Given the description of an element on the screen output the (x, y) to click on. 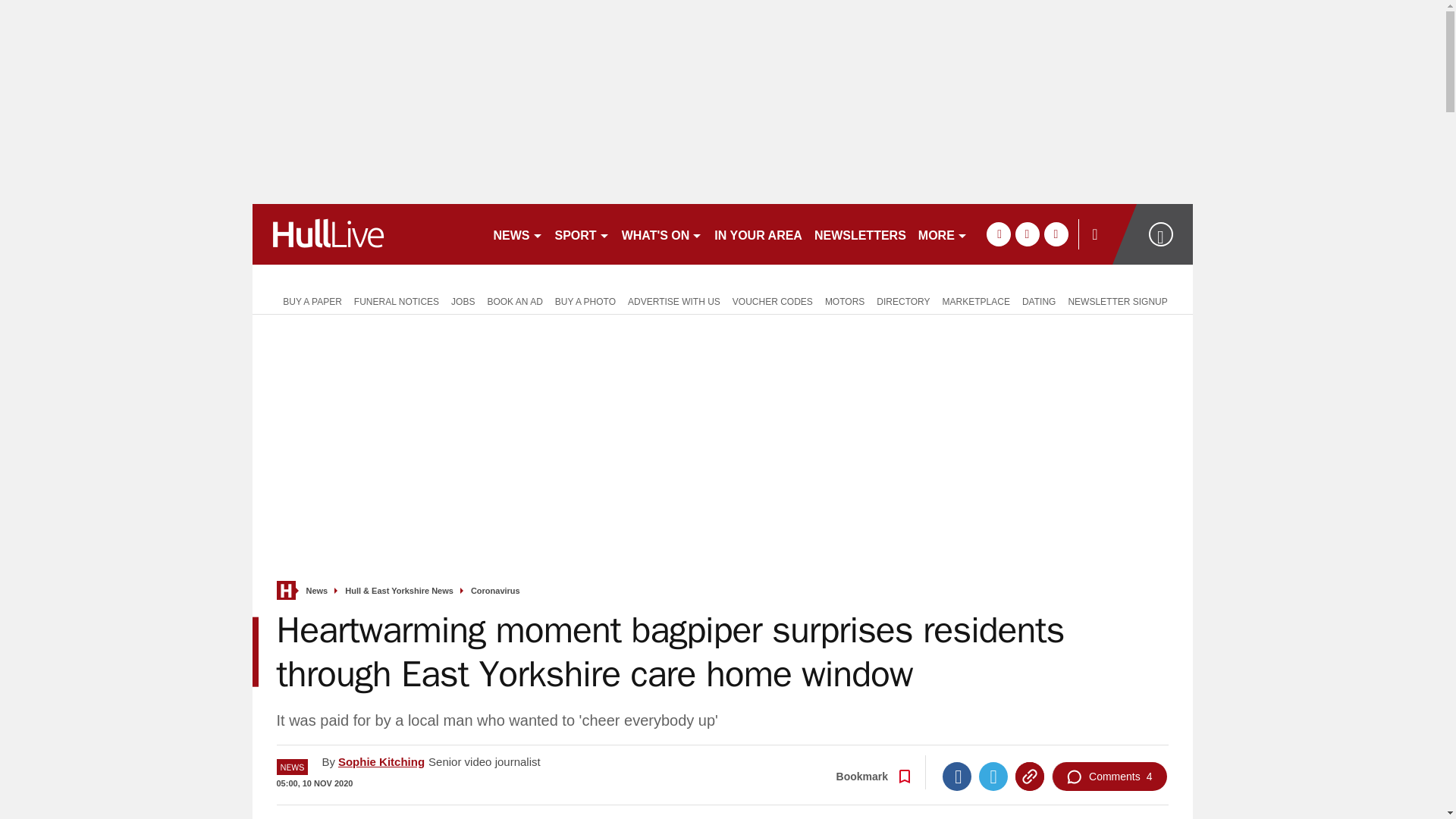
Facebook (956, 776)
NEWSLETTERS (860, 233)
MORE (943, 233)
instagram (1055, 233)
Comments (1108, 776)
WHAT'S ON (662, 233)
twitter (1026, 233)
IN YOUR AREA (757, 233)
facebook (997, 233)
Twitter (992, 776)
